Given the description of an element on the screen output the (x, y) to click on. 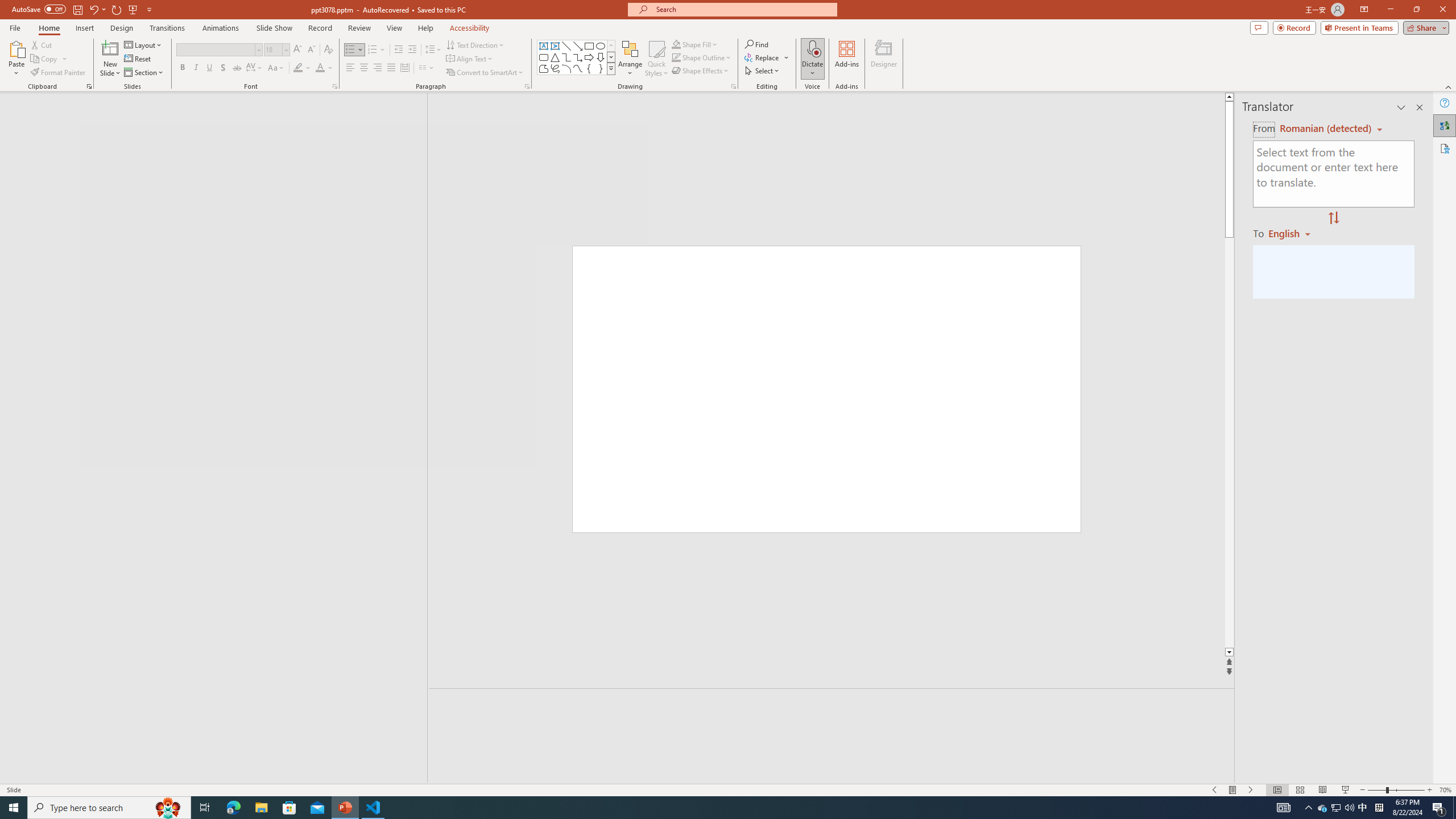
Font Size (273, 49)
Paste (16, 58)
Convert to SmartArt (485, 72)
Font Color Red (320, 67)
Copy (45, 58)
Clear Formatting (327, 49)
Romanian (1293, 232)
Character Spacing (254, 67)
AutomationID: ShapesInsertGallery (576, 57)
Close pane (1419, 107)
Connector: Elbow Arrow (577, 57)
